Given the description of an element on the screen output the (x, y) to click on. 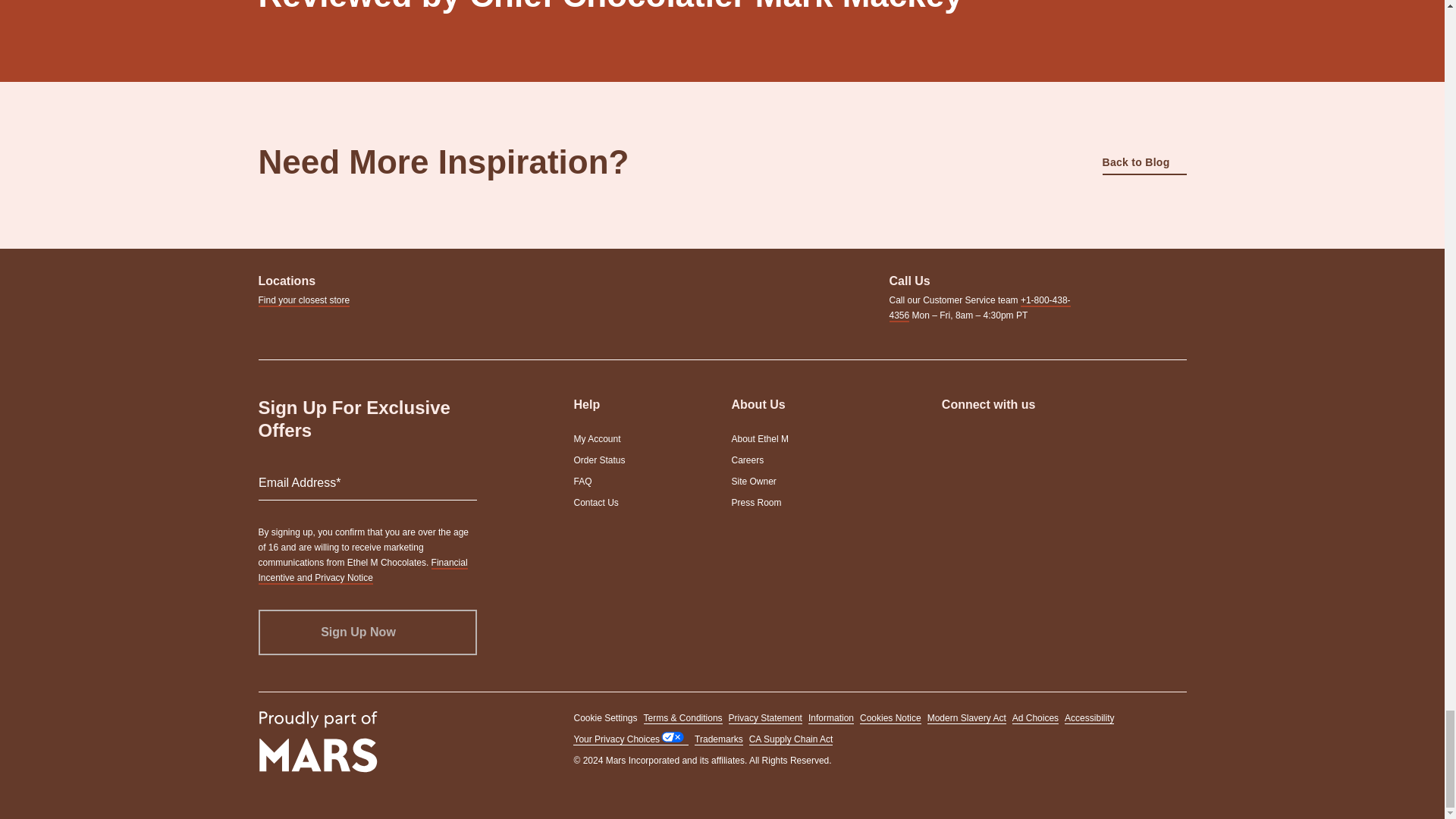
Facebook (983, 440)
Instagram (951, 440)
YouTube (1017, 440)
Pinterest (1050, 440)
